Given the description of an element on the screen output the (x, y) to click on. 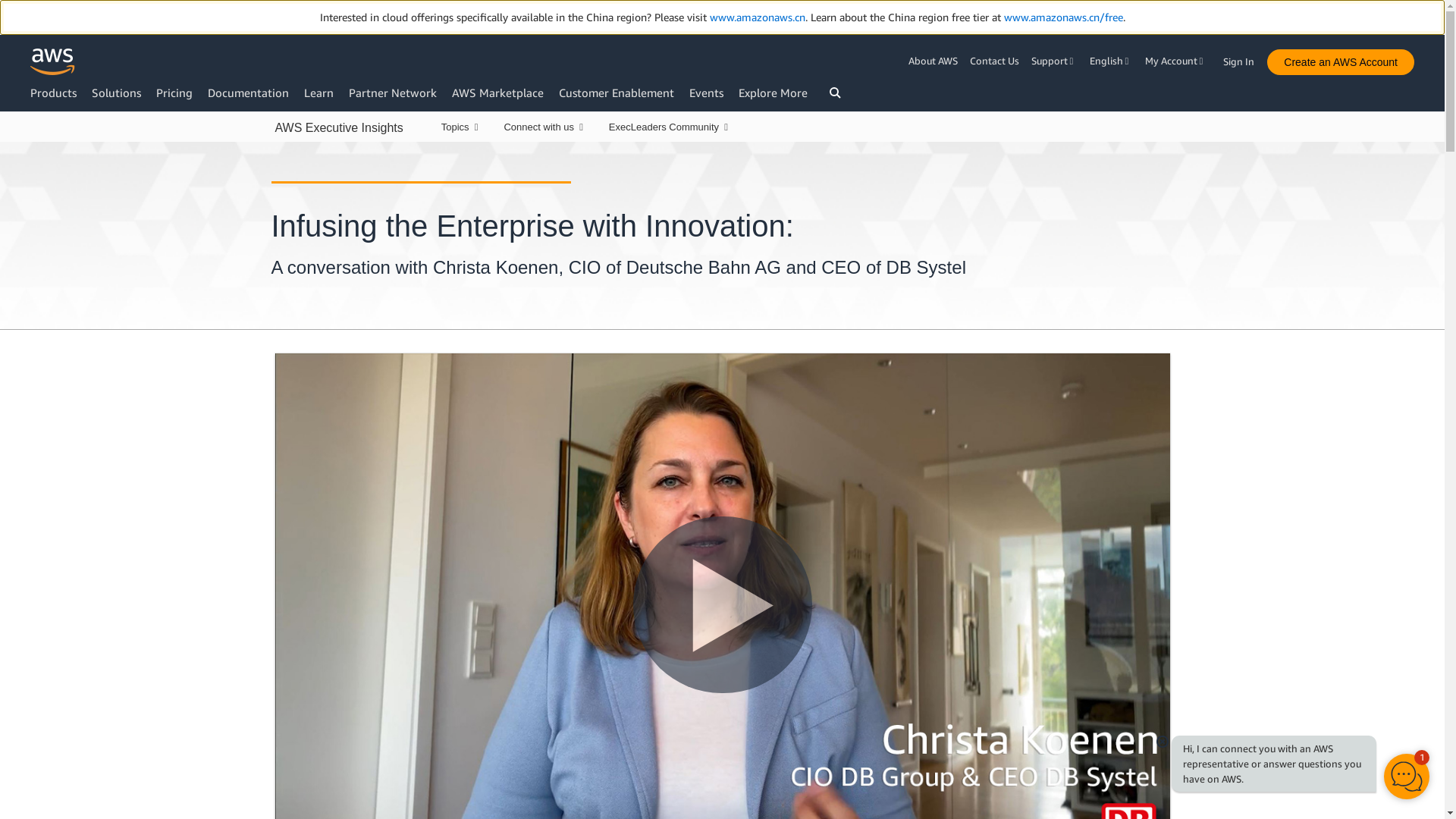
About AWS (935, 60)
Explore More (773, 92)
Play Video (720, 604)
Documentation (248, 92)
Partner Network (392, 92)
Create an AWS Account (1339, 62)
Support  (1054, 60)
Skip to main content (7, 118)
www.amazonaws.cn (757, 16)
Click here to return to Amazon Web Services homepage (52, 61)
Solutions (116, 92)
Products (53, 92)
My Account  (1175, 60)
Learn (318, 92)
Sign In (1243, 58)
